Given the description of an element on the screen output the (x, y) to click on. 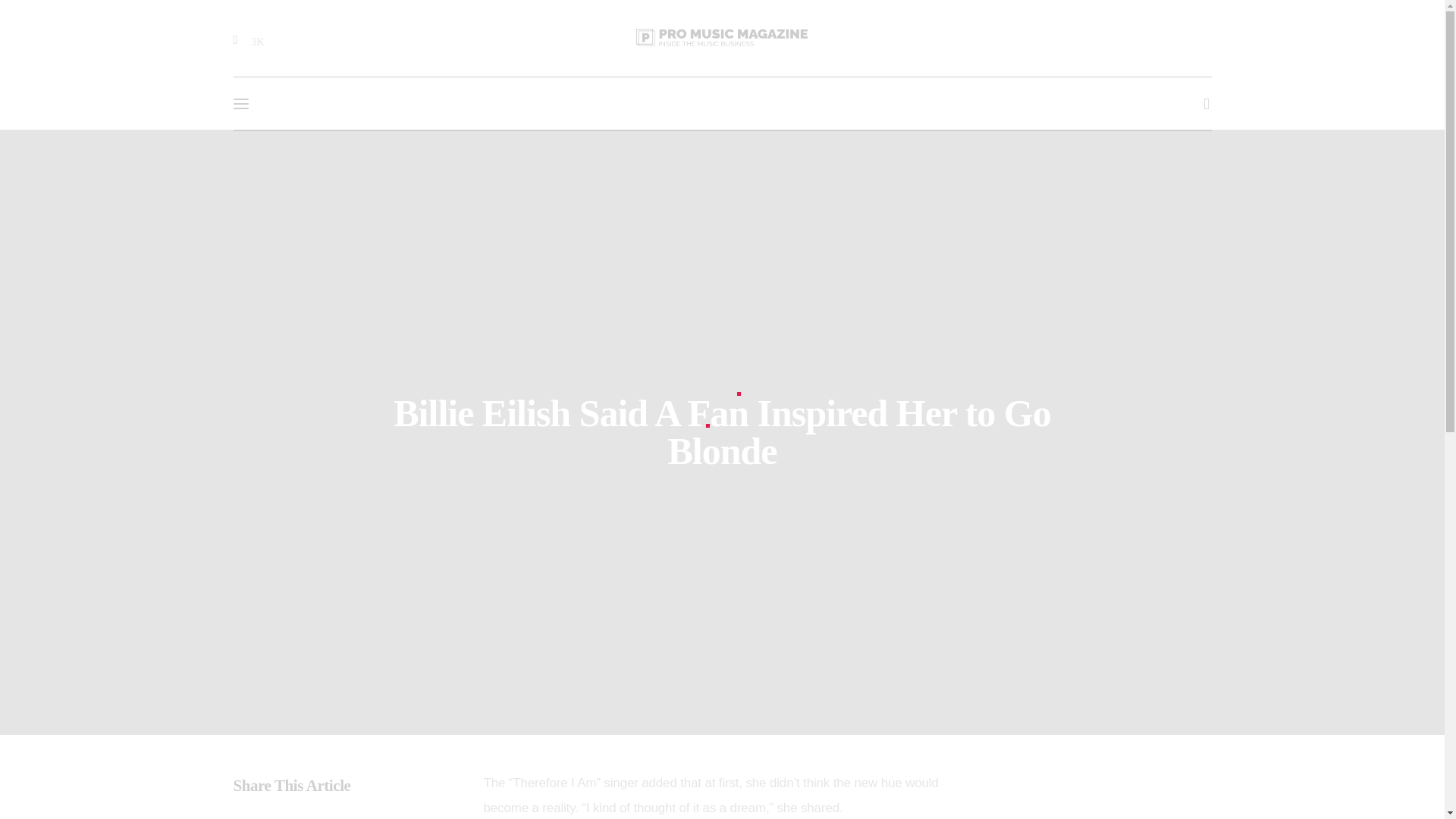
3K (249, 39)
